Given the description of an element on the screen output the (x, y) to click on. 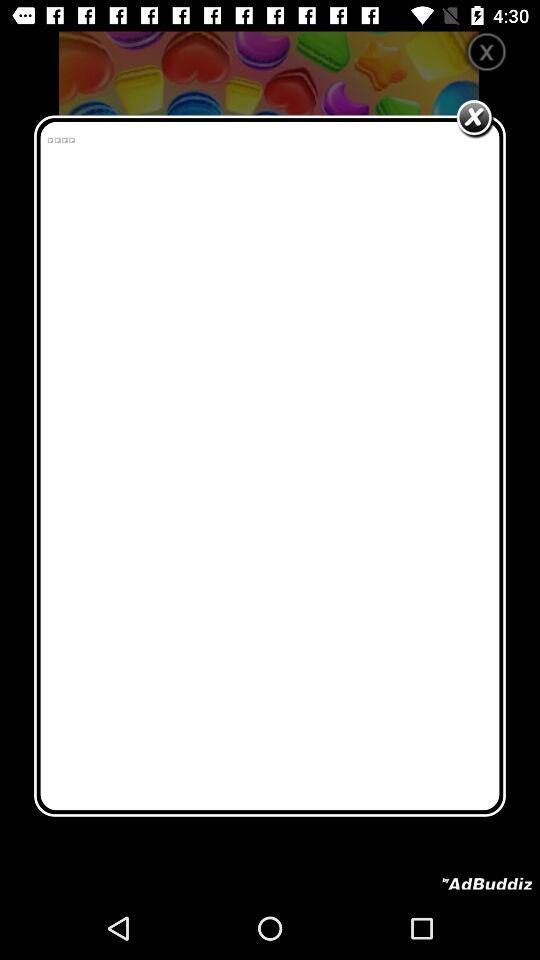
go to adbuddiz (487, 883)
